Given the description of an element on the screen output the (x, y) to click on. 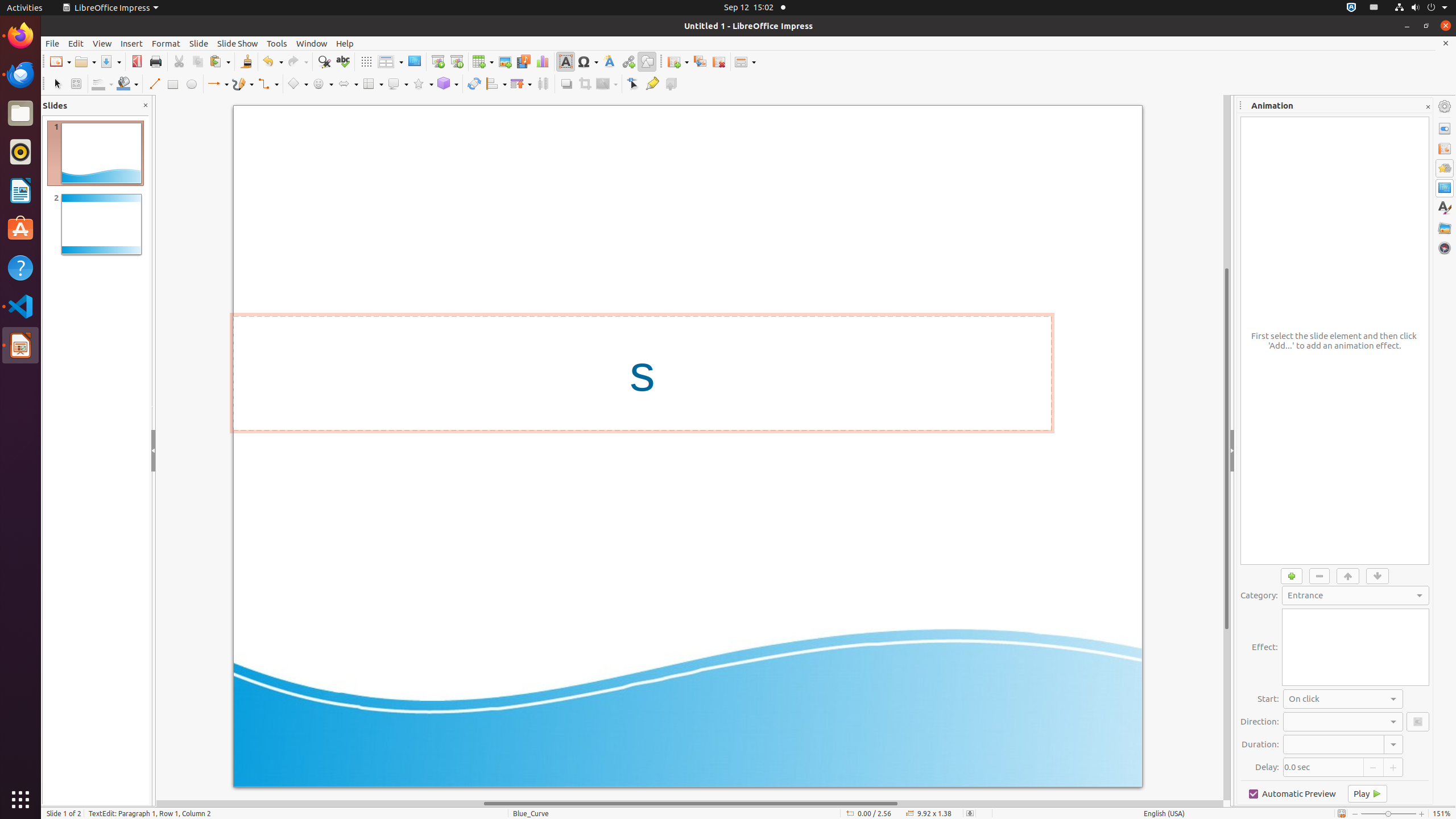
Edit Element type: menu (75, 43)
Duplicate Slide Element type: push-button (699, 61)
Slide Layout Element type: push-button (744, 61)
Visual Studio Code Element type: push-button (20, 306)
Undo Element type: push-button (271, 61)
